Given the description of an element on the screen output the (x, y) to click on. 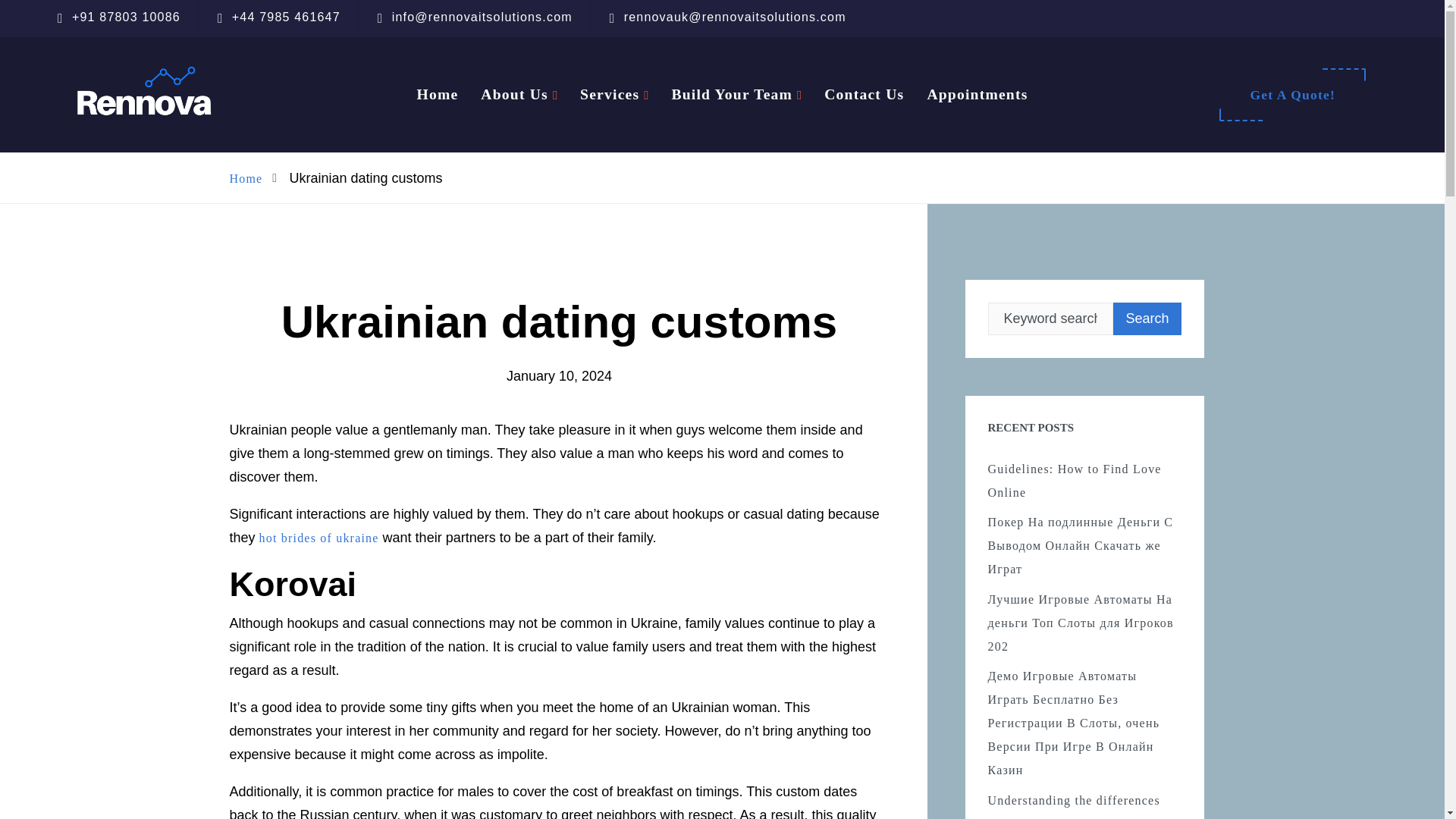
Build Your Team (731, 94)
About Us (514, 94)
Home (437, 94)
Services (609, 94)
Search (1146, 318)
